Given the description of an element on the screen output the (x, y) to click on. 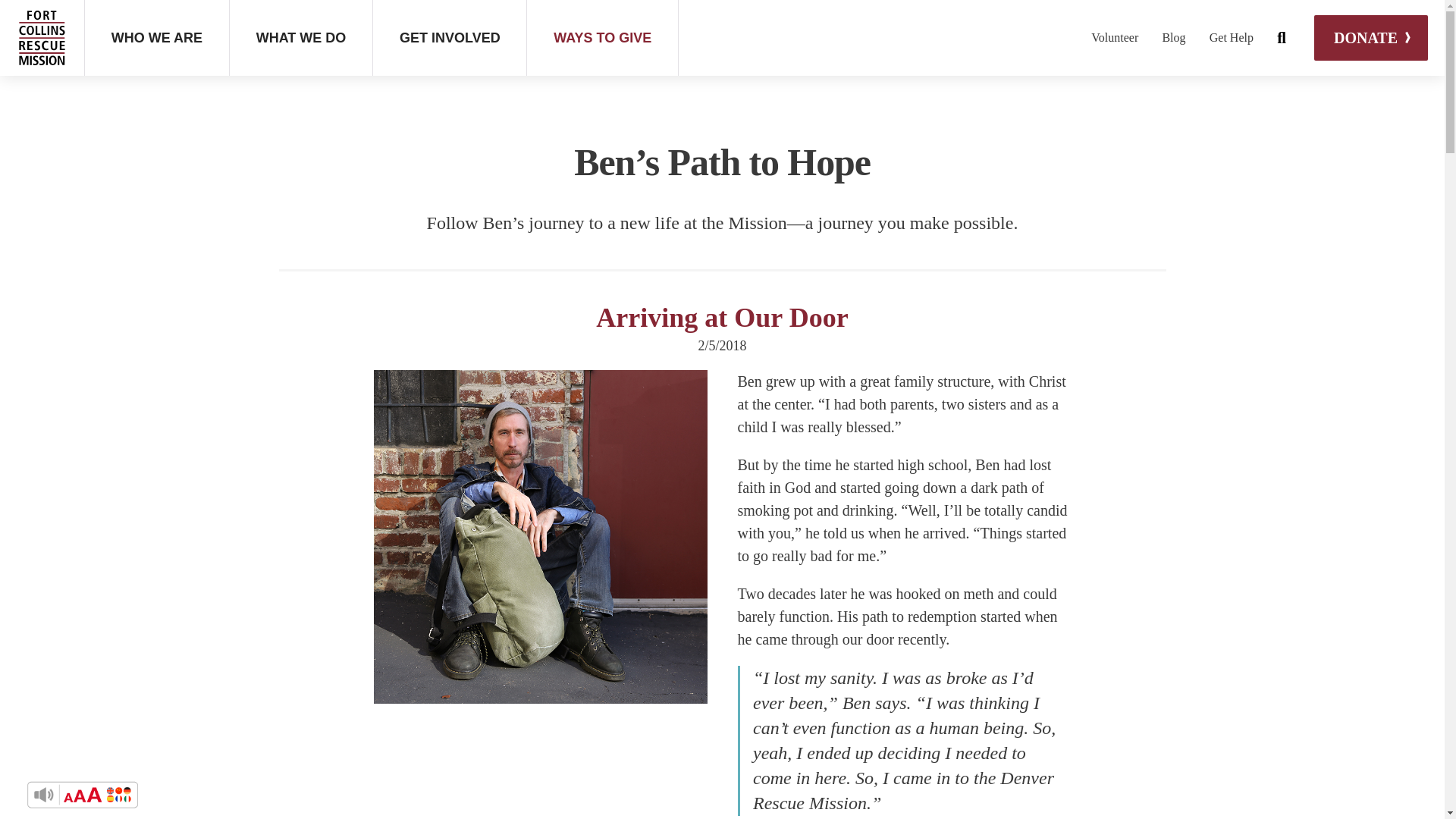
Get Help (1242, 38)
WHO WE ARE (156, 38)
Launch Recite Me (82, 794)
WAYS TO GIVE (602, 38)
Blog (1184, 38)
Launch Recite Me (82, 794)
DONATE (1371, 37)
WHAT WE DO (301, 38)
Volunteer (1125, 38)
GET INVOLVED (448, 38)
